Given the description of an element on the screen output the (x, y) to click on. 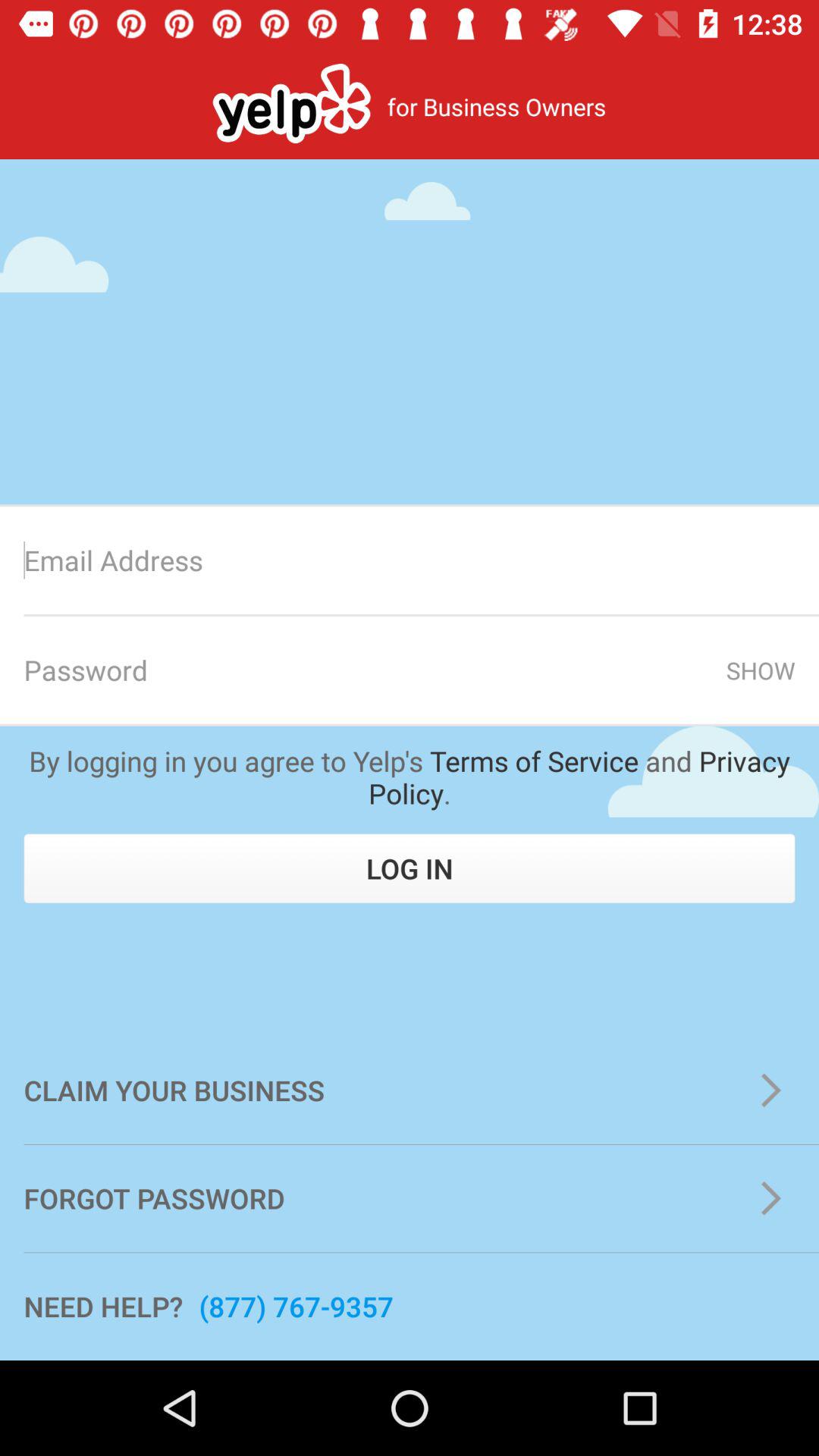
select item above log in (409, 777)
